Given the description of an element on the screen output the (x, y) to click on. 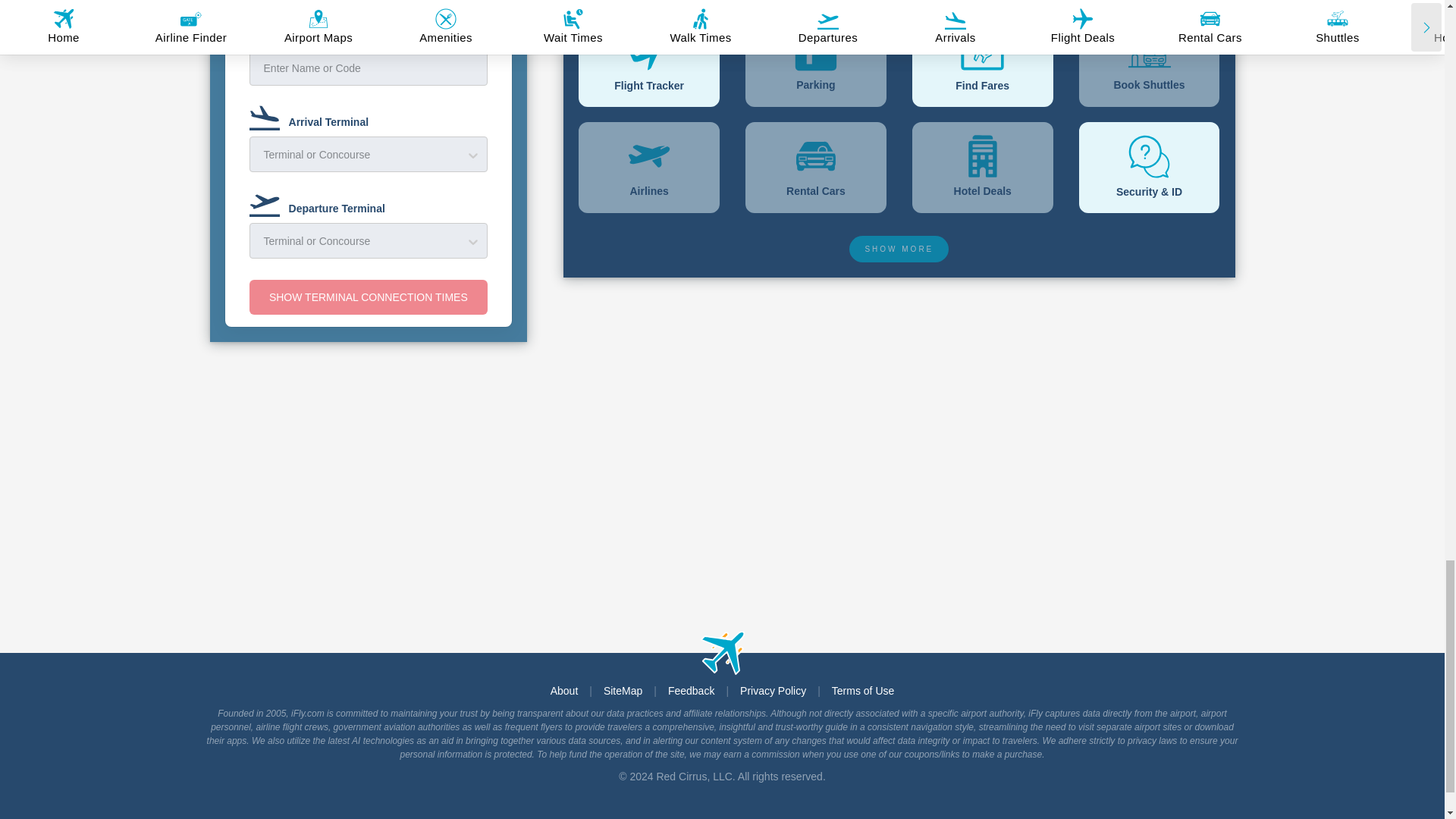
show more (898, 248)
